Given the description of an element on the screen output the (x, y) to click on. 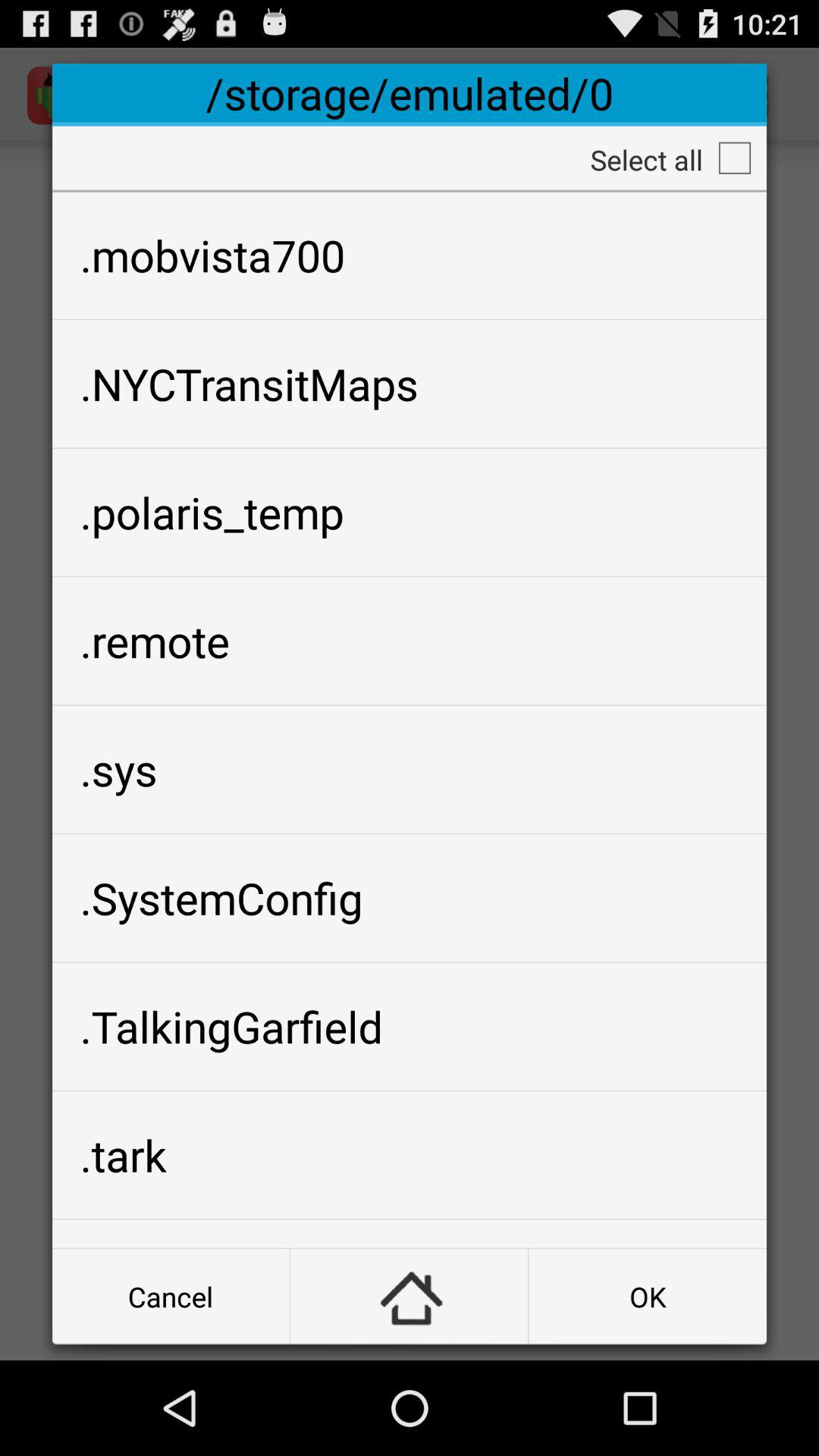
launch app below the .transportext item (170, 1296)
